Given the description of an element on the screen output the (x, y) to click on. 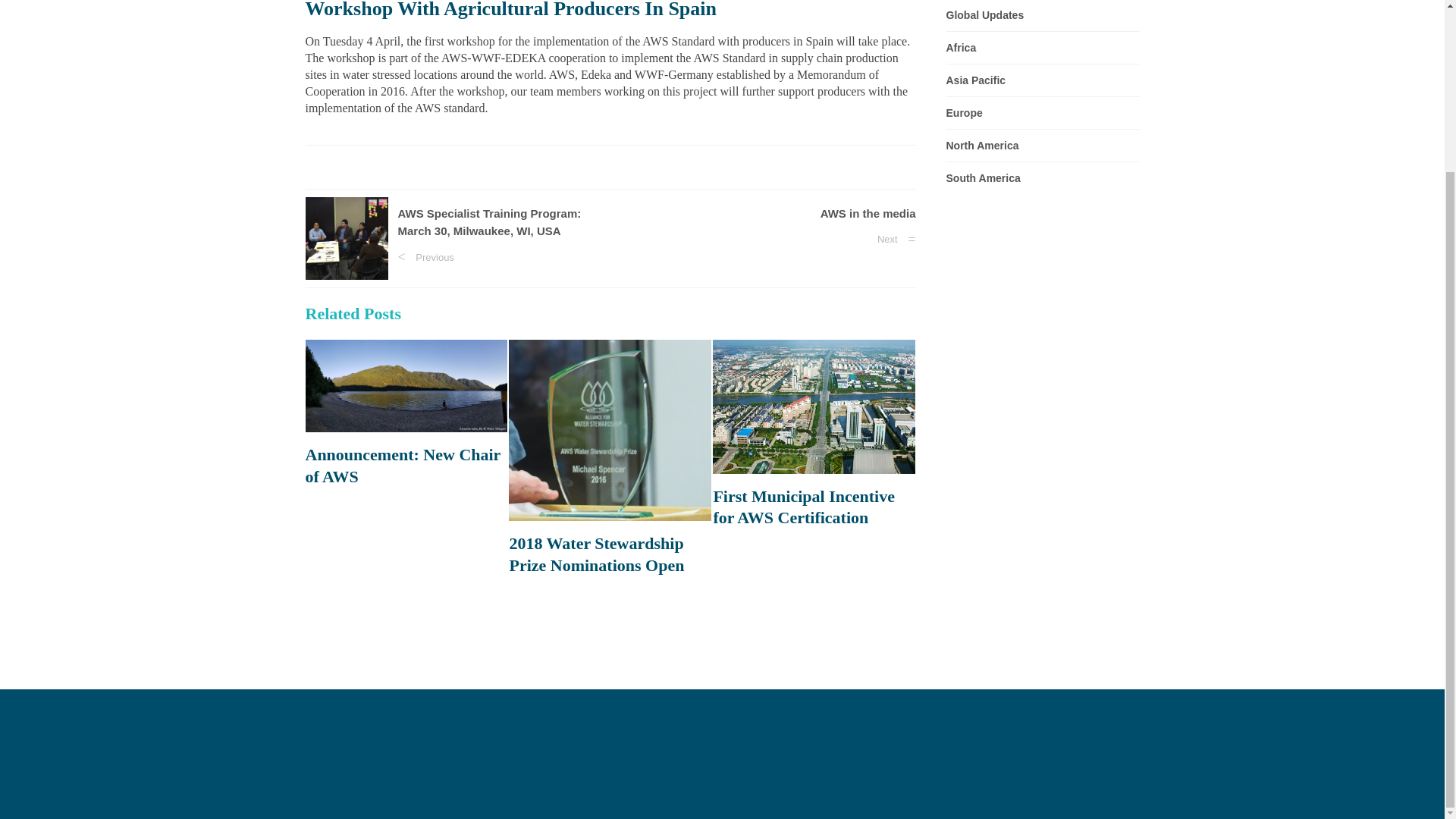
2018 Water Stewardship Prize Nominations Open (609, 554)
First Municipal Incentive for AWS Certification (814, 507)
Announcement: New Chair of AWS (405, 465)
